Given the description of an element on the screen output the (x, y) to click on. 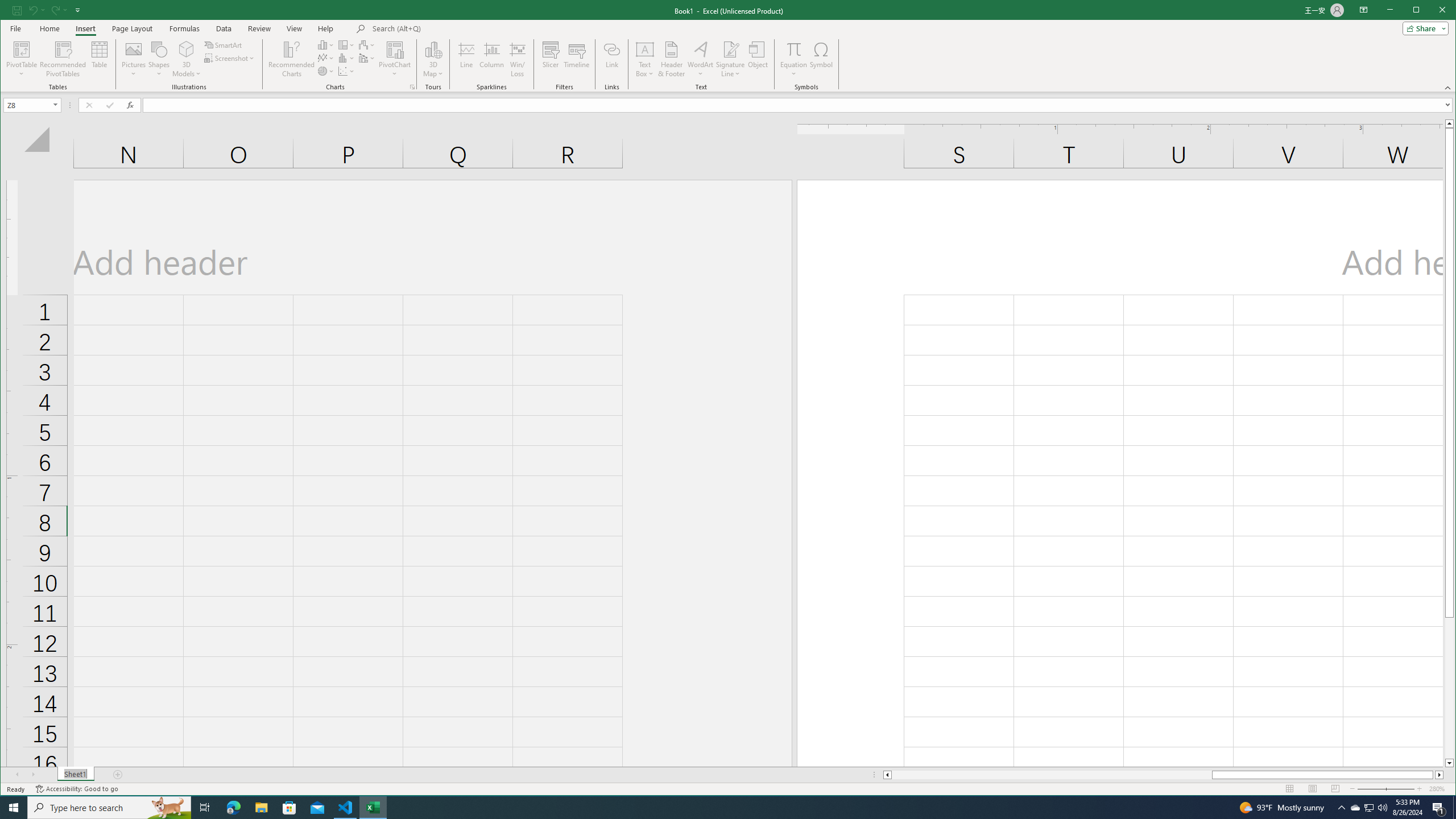
Insert Column or Bar Chart (325, 44)
Insert Pie or Doughnut Chart (325, 70)
PivotTable (1355, 807)
Signature Line (22, 48)
User Promoted Notification Area (729, 48)
Insert Combo Chart (1368, 807)
